Given the description of an element on the screen output the (x, y) to click on. 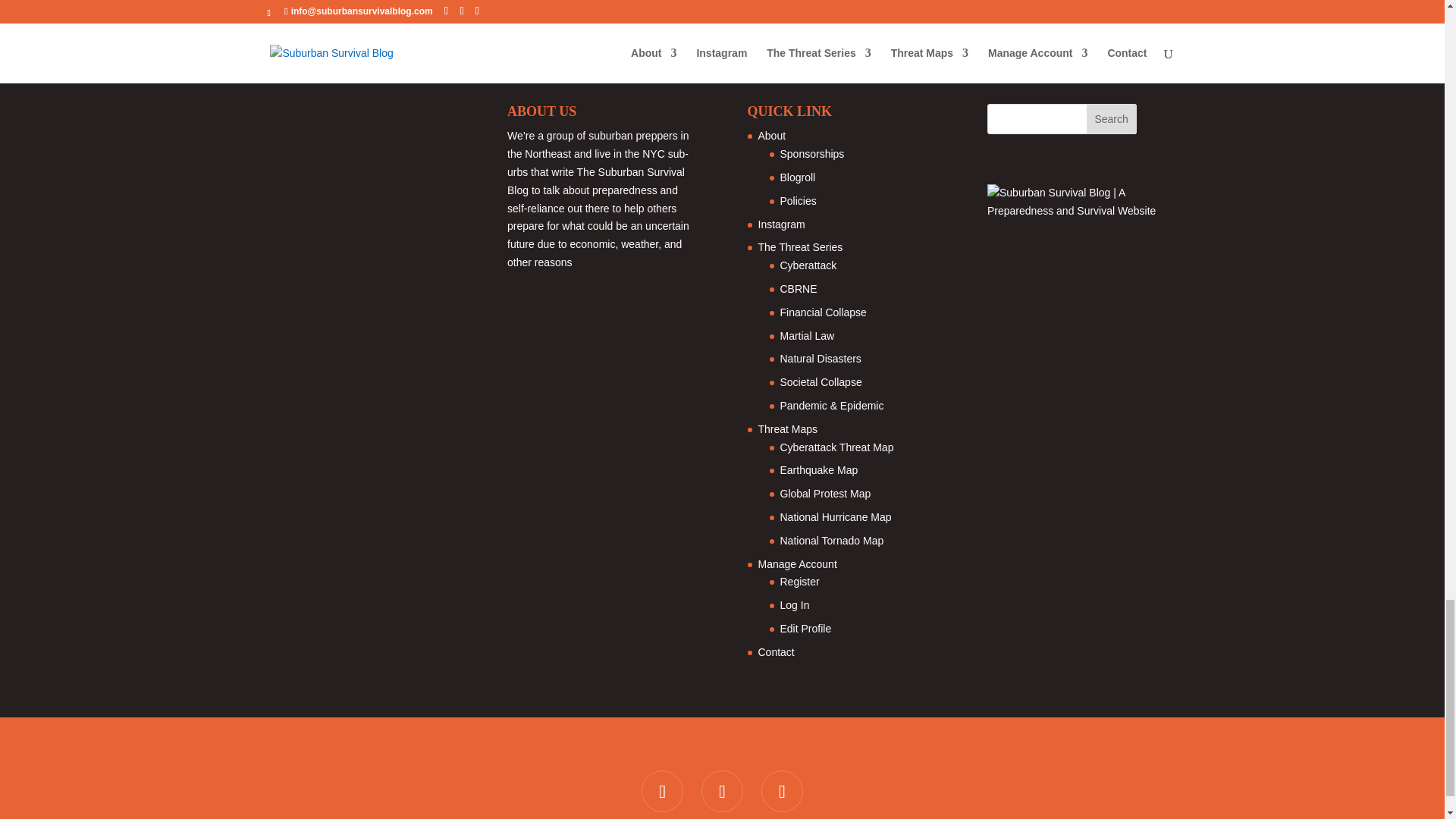
Search (1111, 119)
